Given the description of an element on the screen output the (x, y) to click on. 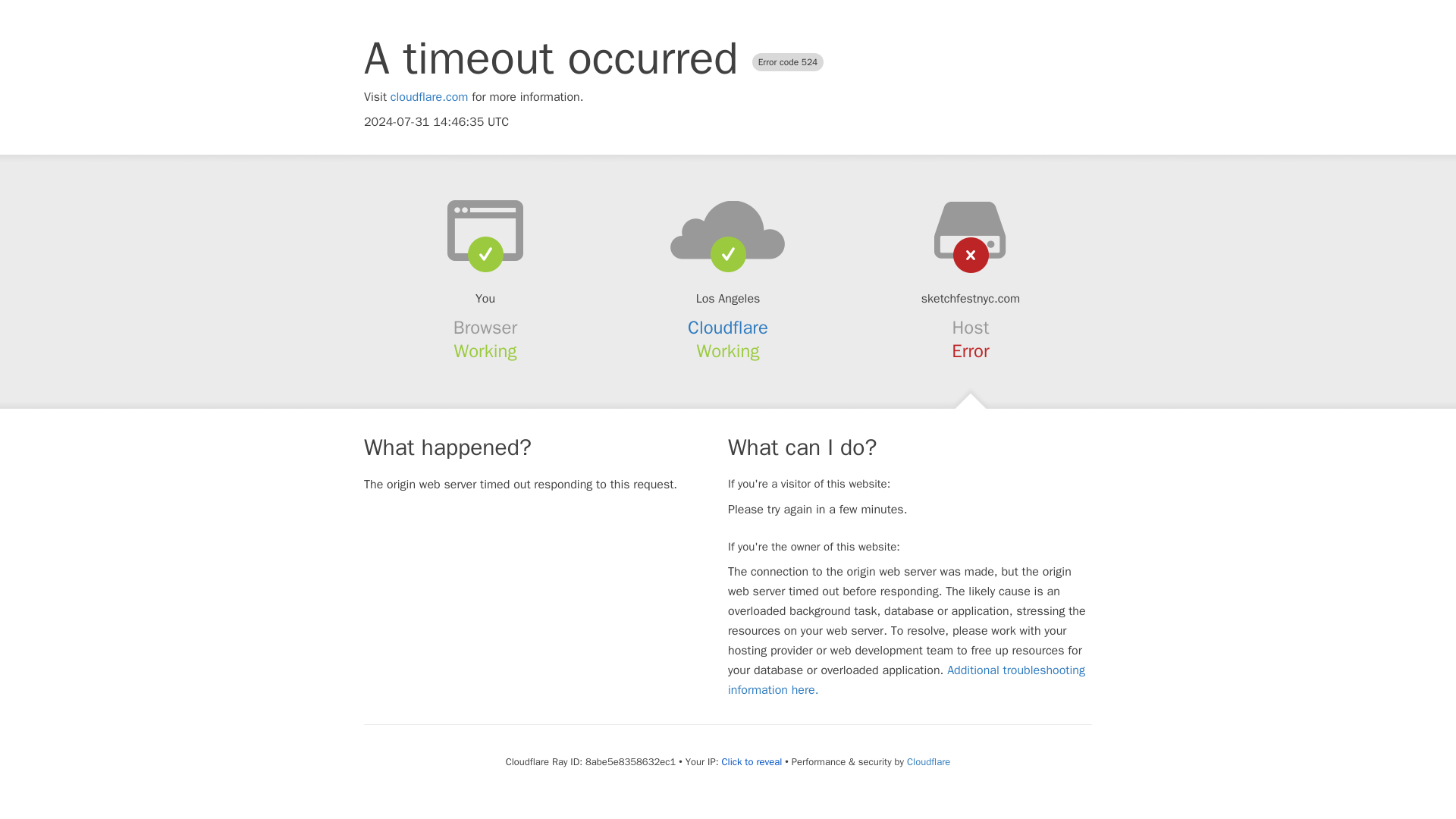
Click to reveal (750, 762)
Additional troubleshooting information here. (906, 679)
Cloudflare (727, 327)
Cloudflare (928, 761)
cloudflare.com (429, 96)
